Given the description of an element on the screen output the (x, y) to click on. 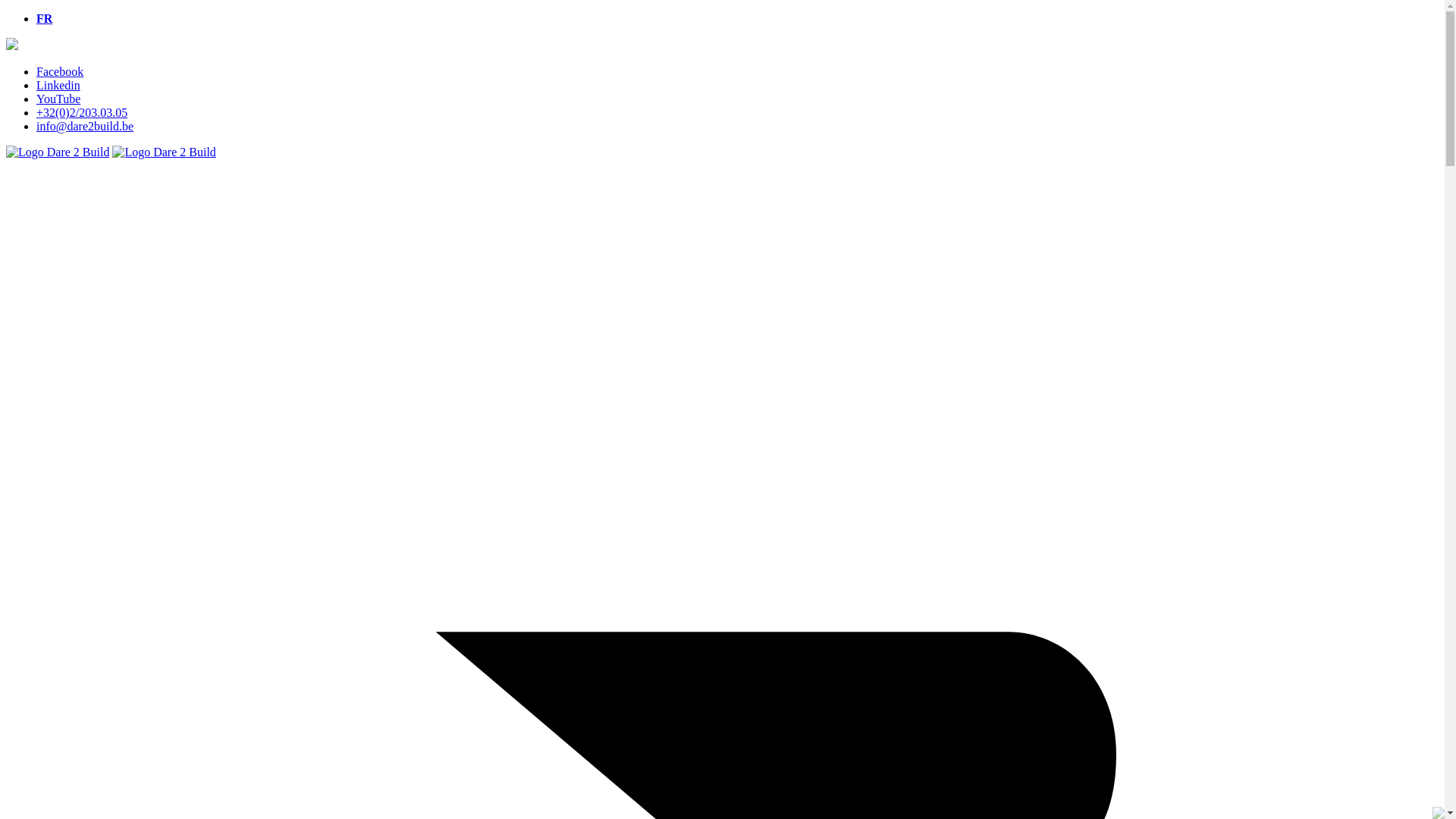
+32(0)2/203.03.05 Element type: text (81, 112)
Facebook Element type: text (59, 71)
FR Element type: text (44, 18)
YouTube Element type: text (58, 98)
info@dare2build.be Element type: text (84, 125)
Linkedin Element type: text (58, 84)
